Given the description of an element on the screen output the (x, y) to click on. 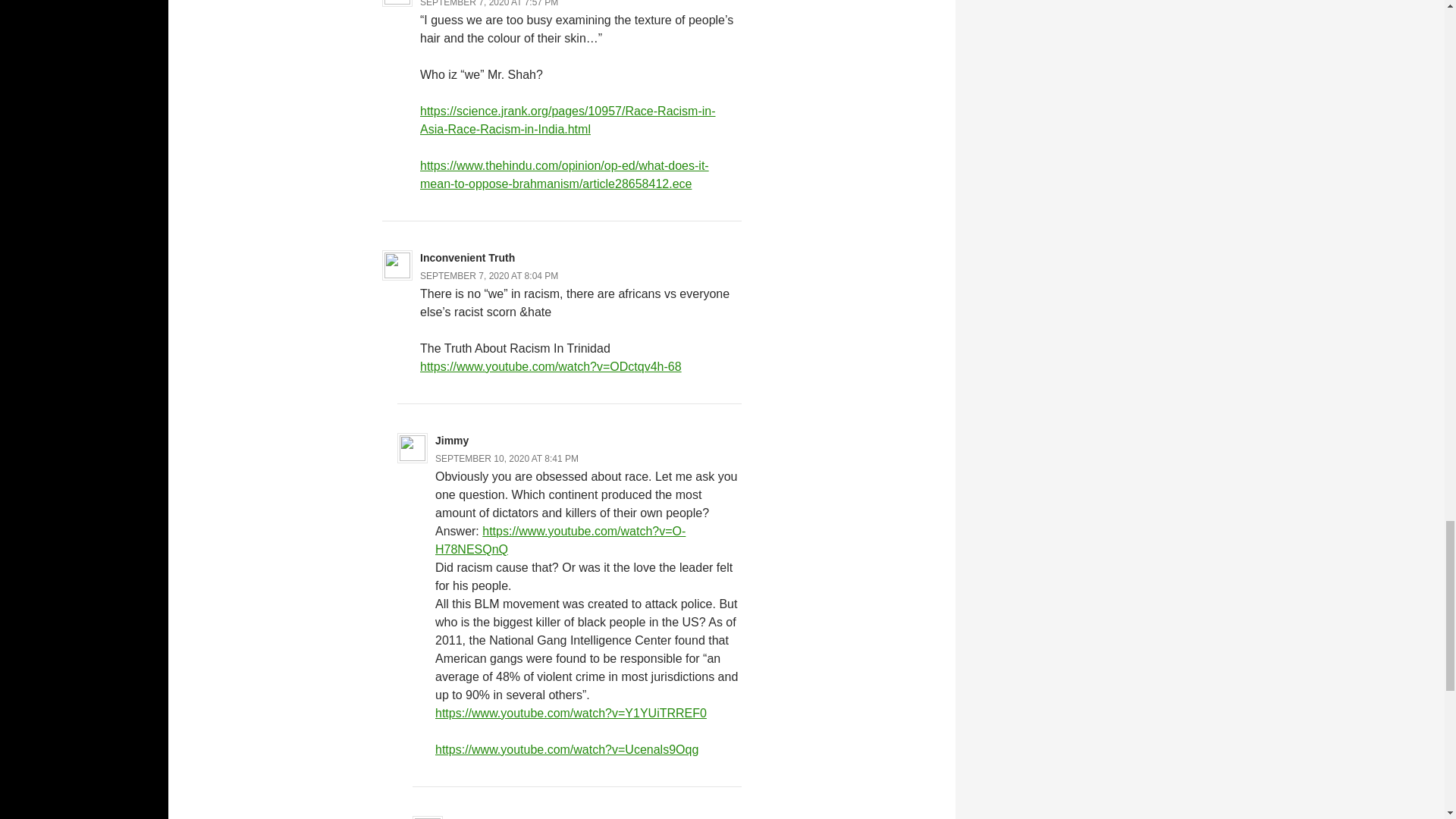
SEPTEMBER 10, 2020 AT 8:41 PM (506, 458)
SEPTEMBER 7, 2020 AT 8:04 PM (488, 276)
SEPTEMBER 7, 2020 AT 7:57 PM (488, 3)
